Given the description of an element on the screen output the (x, y) to click on. 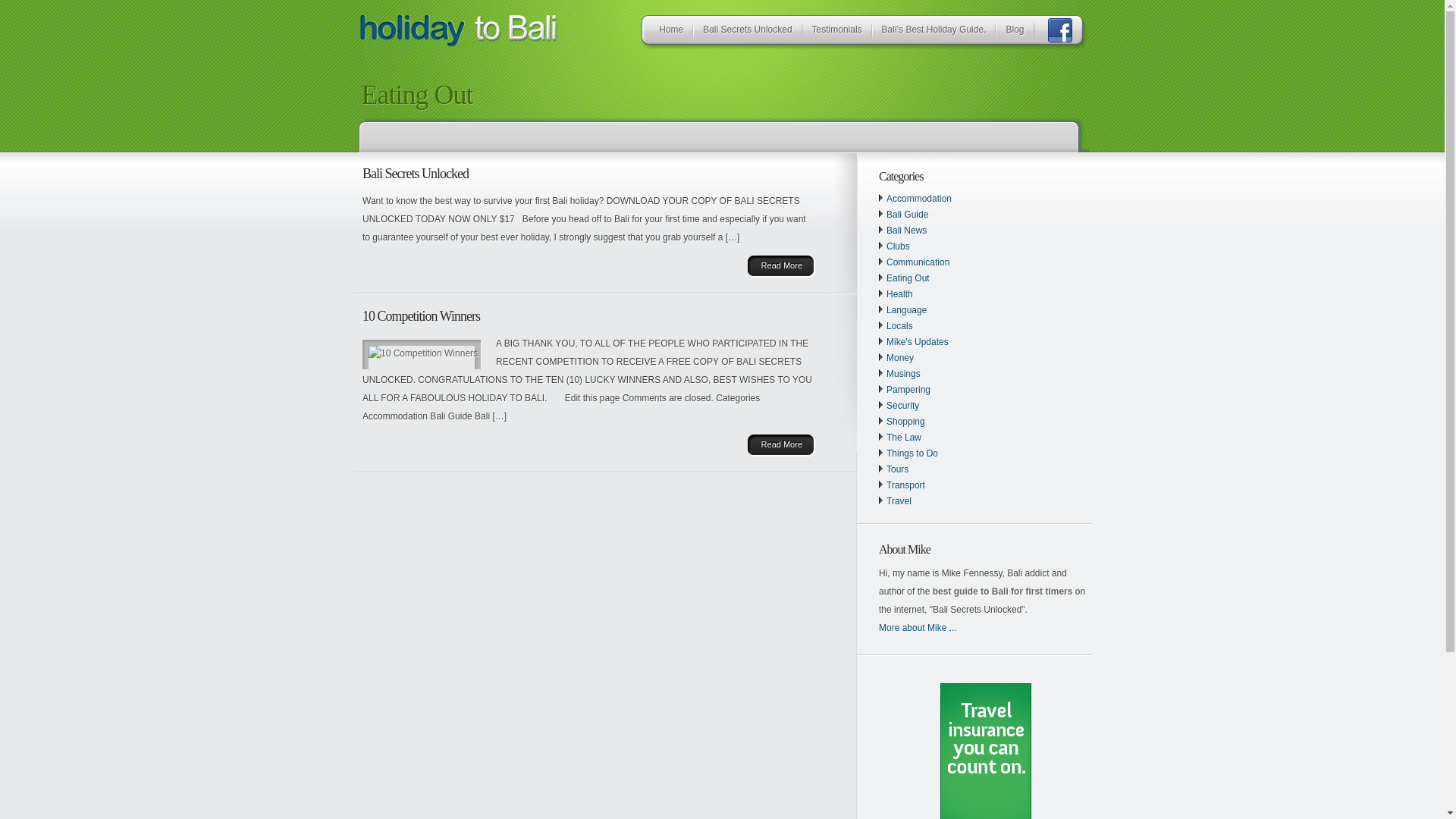
Home Element type: text (670, 31)
Clubs Element type: text (898, 246)
Tours Element type: text (897, 469)
Things to Do Element type: text (912, 453)
Musings Element type: text (903, 373)
The Law Element type: text (903, 437)
Pampering Element type: text (908, 389)
Mike's Updates Element type: text (917, 341)
Health Element type: text (899, 293)
Read More Element type: text (781, 265)
Locals Element type: text (899, 325)
Bali Guide Element type: text (907, 214)
Bali News Element type: text (906, 230)
Security Element type: text (902, 405)
Communication Element type: text (917, 262)
Money Element type: text (899, 357)
Testimonials Element type: text (836, 31)
More about Mike ... Element type: text (917, 627)
Accommodation Element type: text (918, 198)
Read More Element type: text (781, 444)
Bali Secrets Unlocked Element type: text (747, 31)
Travel Element type: text (898, 500)
Blog Element type: text (1014, 31)
Shopping Element type: text (905, 421)
10 Competition Winners Element type: text (421, 315)
Bali Secrets Unlocked Element type: text (415, 173)
Eating Out Element type: text (907, 278)
Transport Element type: text (905, 485)
Language Element type: text (906, 309)
